Given the description of an element on the screen output the (x, y) to click on. 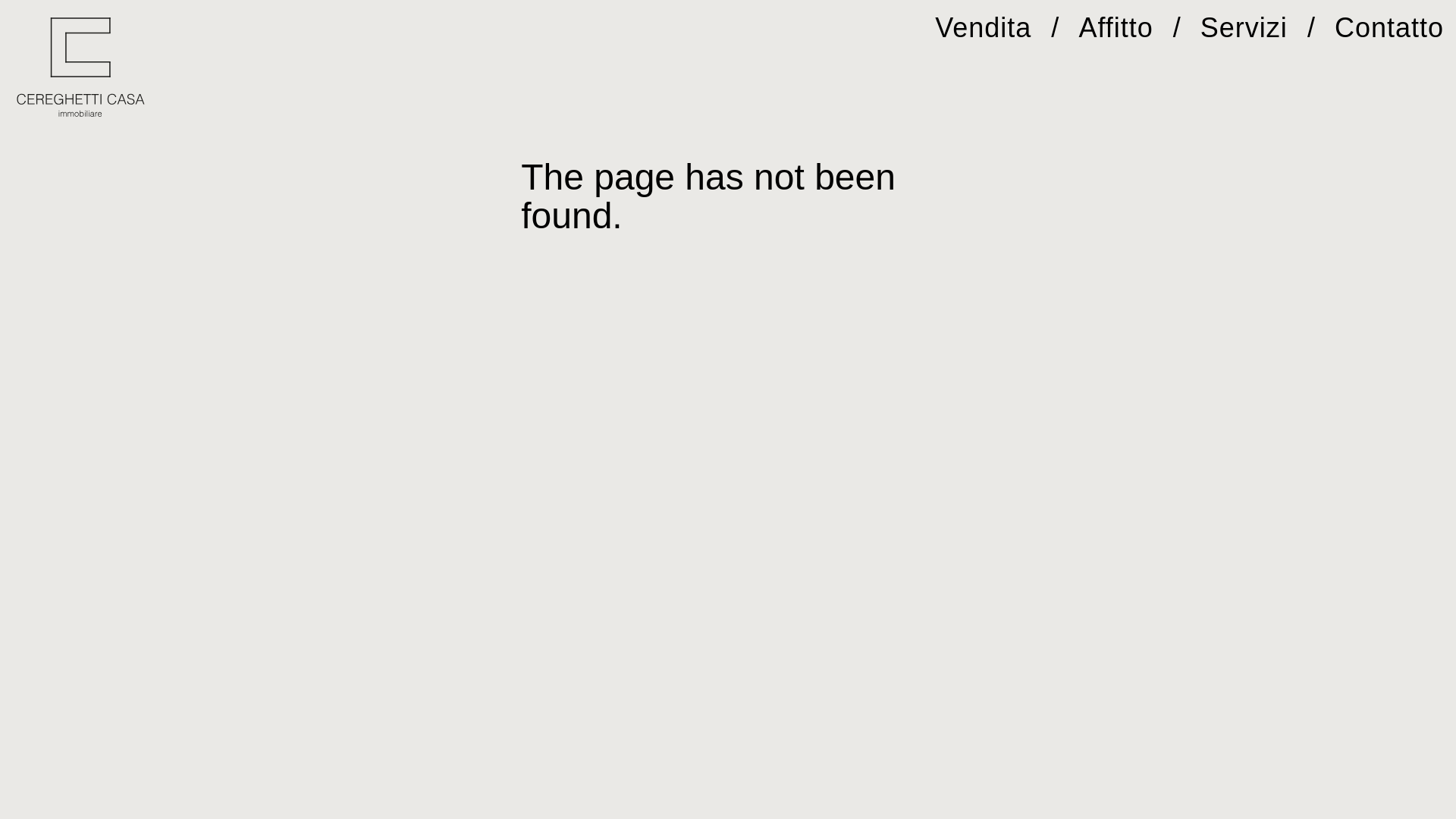
Contatto Element type: text (1388, 27)
Servizi Element type: text (1243, 27)
Affitto Element type: text (1115, 27)
Vendita Element type: text (983, 27)
